Given the description of an element on the screen output the (x, y) to click on. 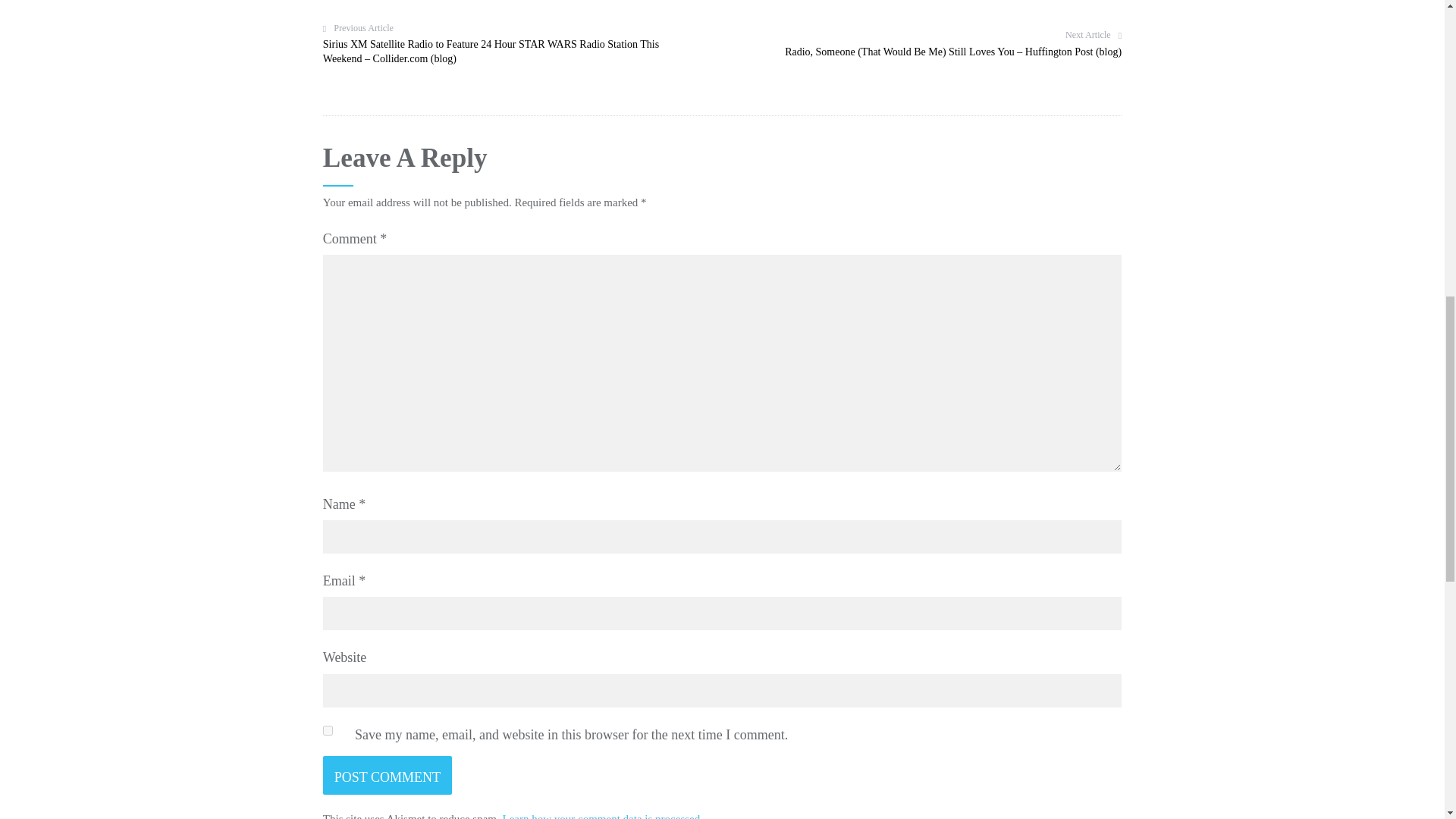
Post Comment (387, 774)
yes (328, 730)
